Given the description of an element on the screen output the (x, y) to click on. 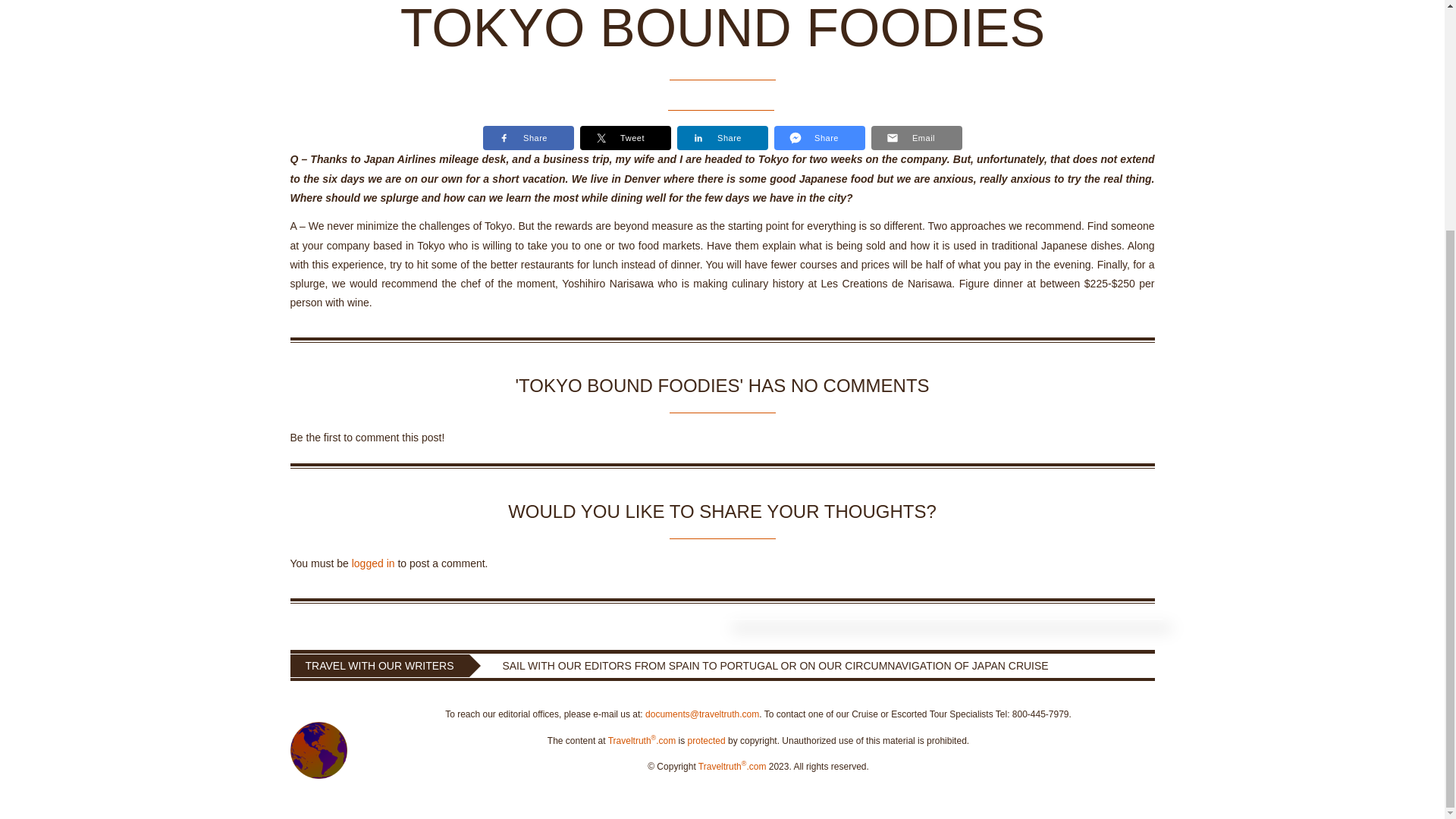
protected (706, 740)
logged in (373, 563)
